Given the description of an element on the screen output the (x, y) to click on. 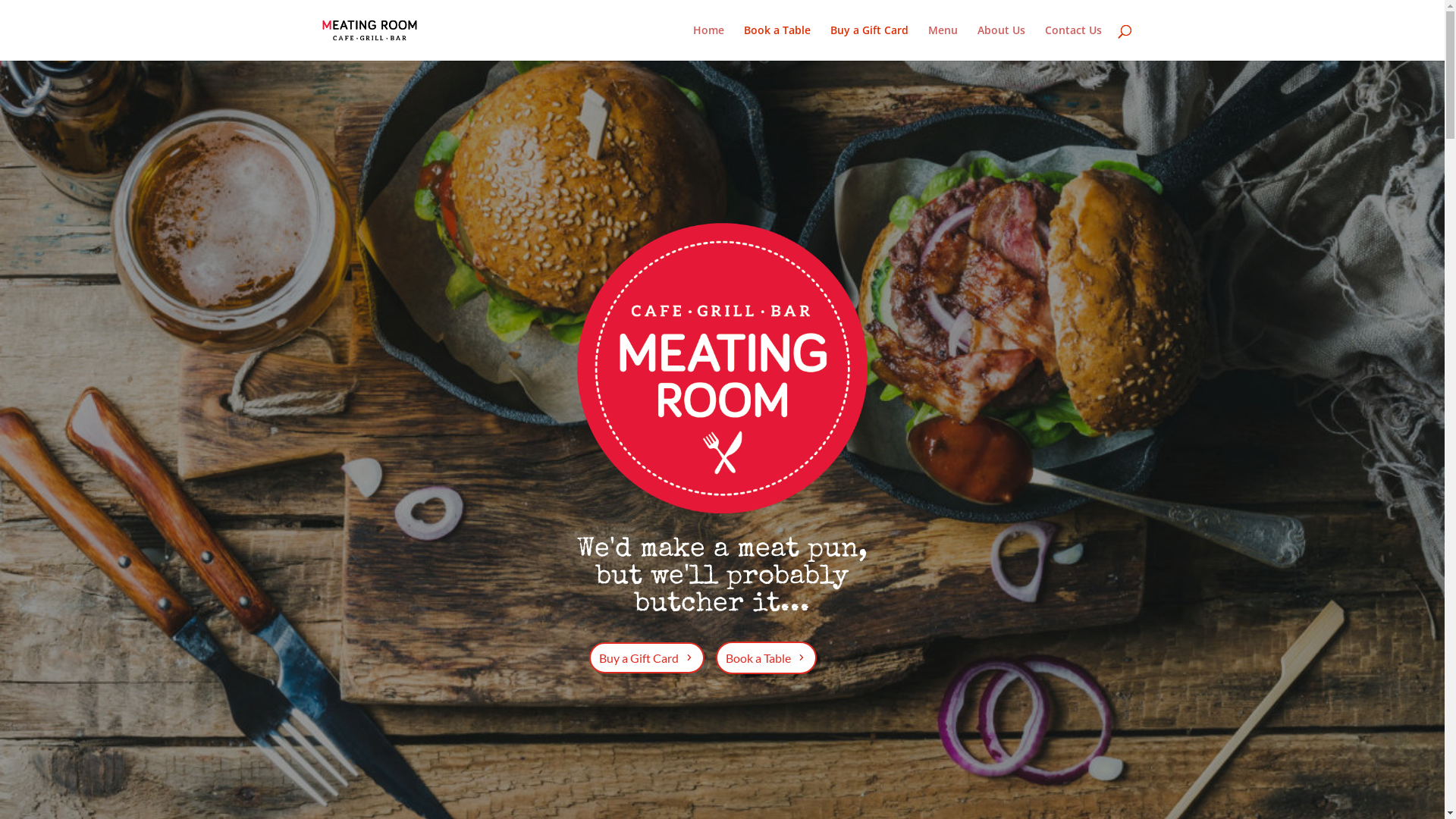
Buy a Gift Card Element type: text (868, 42)
Book a Table Element type: text (765, 657)
About Us Element type: text (1000, 42)
Book a Table Element type: text (776, 42)
Menu Element type: text (942, 42)
Home Element type: text (708, 42)
Buy a Gift Card Element type: text (646, 657)
Contact Us Element type: text (1072, 42)
